Given the description of an element on the screen output the (x, y) to click on. 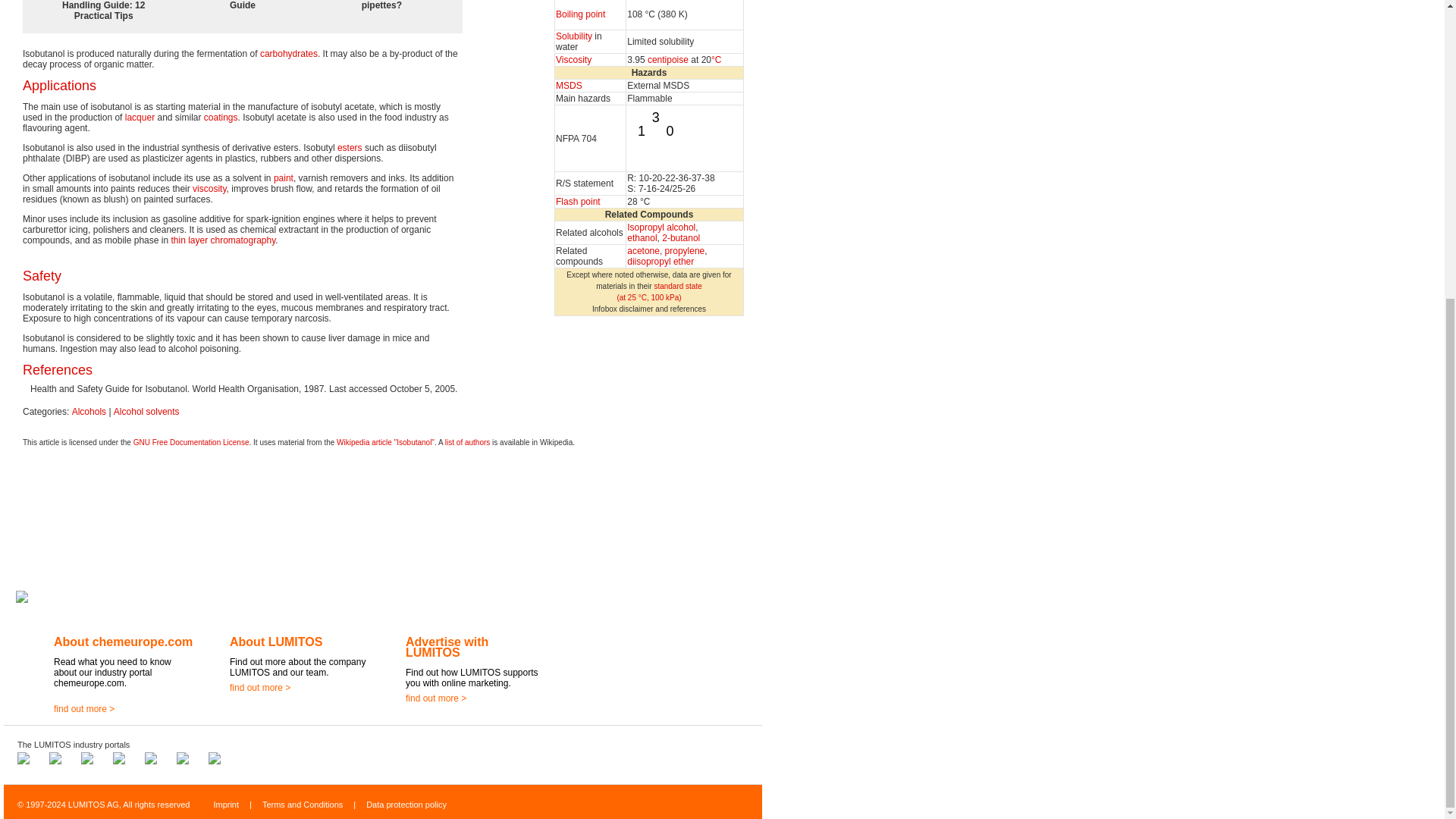
propylene (684, 250)
MSDS (569, 85)
Boiling point (580, 14)
Isopropyl alcohol (661, 226)
ethanol (641, 237)
2-butanol (681, 237)
Viscosity (573, 59)
Centipoise (667, 59)
acetone (643, 250)
Solubility (574, 36)
